Given the description of an element on the screen output the (x, y) to click on. 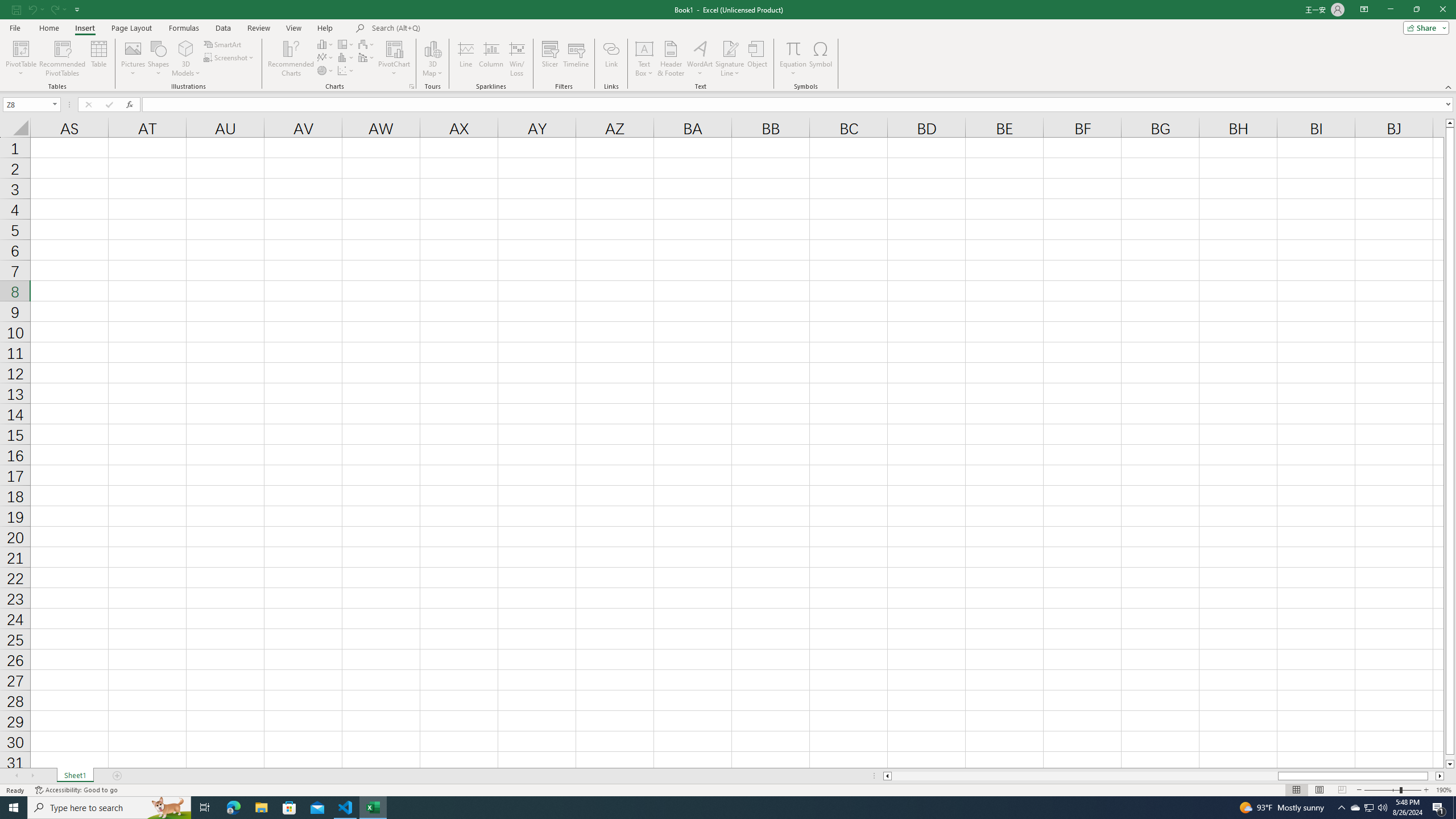
3D Models (186, 58)
Sheet1 (74, 775)
Zoom (1392, 790)
Quick Access Toolbar (46, 9)
Line up (1449, 122)
PivotTable (20, 48)
Object... (757, 58)
Review (258, 28)
Signature Line (729, 48)
Help (325, 28)
PivotChart (394, 58)
Column right (1440, 775)
Insert (83, 28)
